Given the description of an element on the screen output the (x, y) to click on. 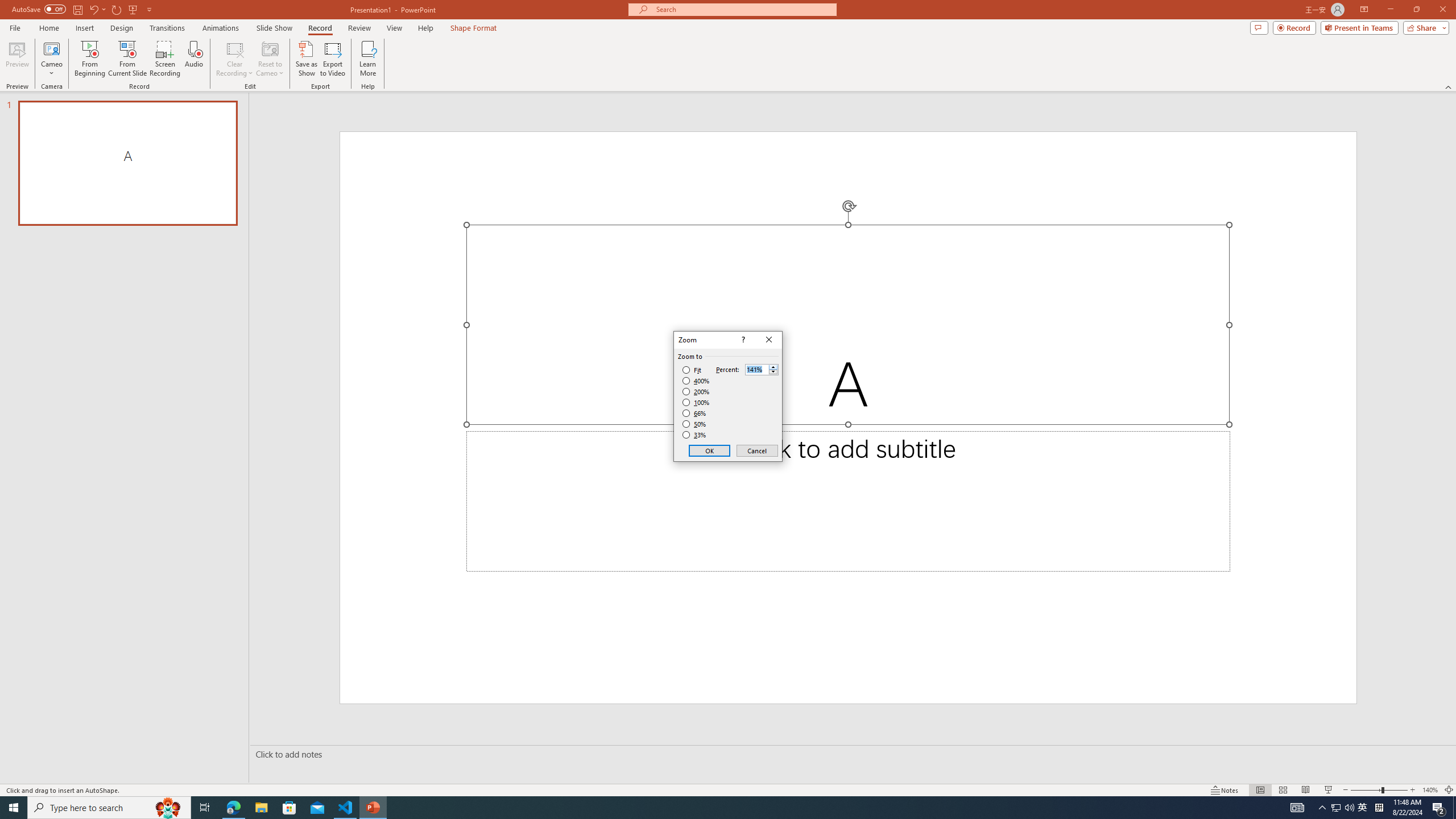
Export to Video (332, 58)
50% (694, 424)
100% (696, 402)
Audio (193, 58)
Shape Format (473, 28)
Running applications (707, 807)
